Given the description of an element on the screen output the (x, y) to click on. 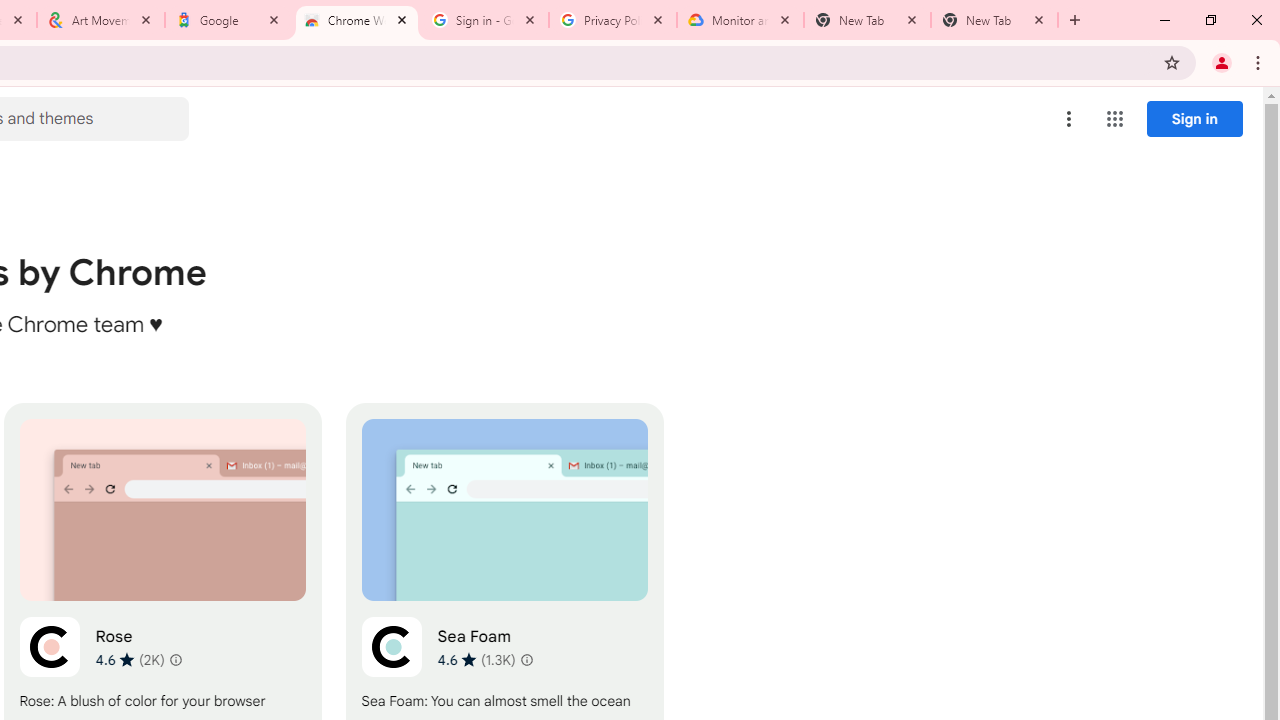
Chrome Web Store - Color themes by Chrome (357, 20)
Sign in - Google Accounts (485, 20)
New Tab (994, 20)
Learn more about results and reviews "Rose" (175, 659)
Learn more about results and reviews "Sea Foam" (526, 659)
Average rating 4.6 out of 5 stars. 1.3K ratings. (475, 659)
More options menu (1069, 118)
